Given the description of an element on the screen output the (x, y) to click on. 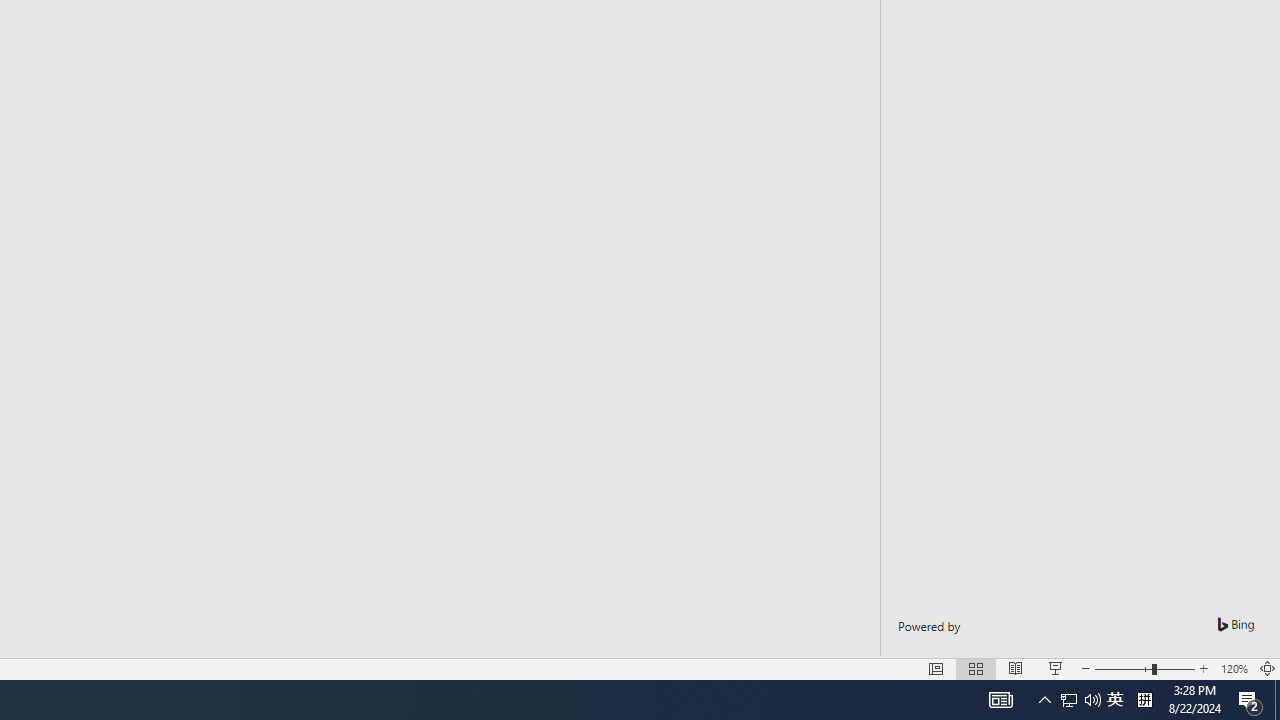
Zoom 120% (1234, 668)
